Given the description of an element on the screen output the (x, y) to click on. 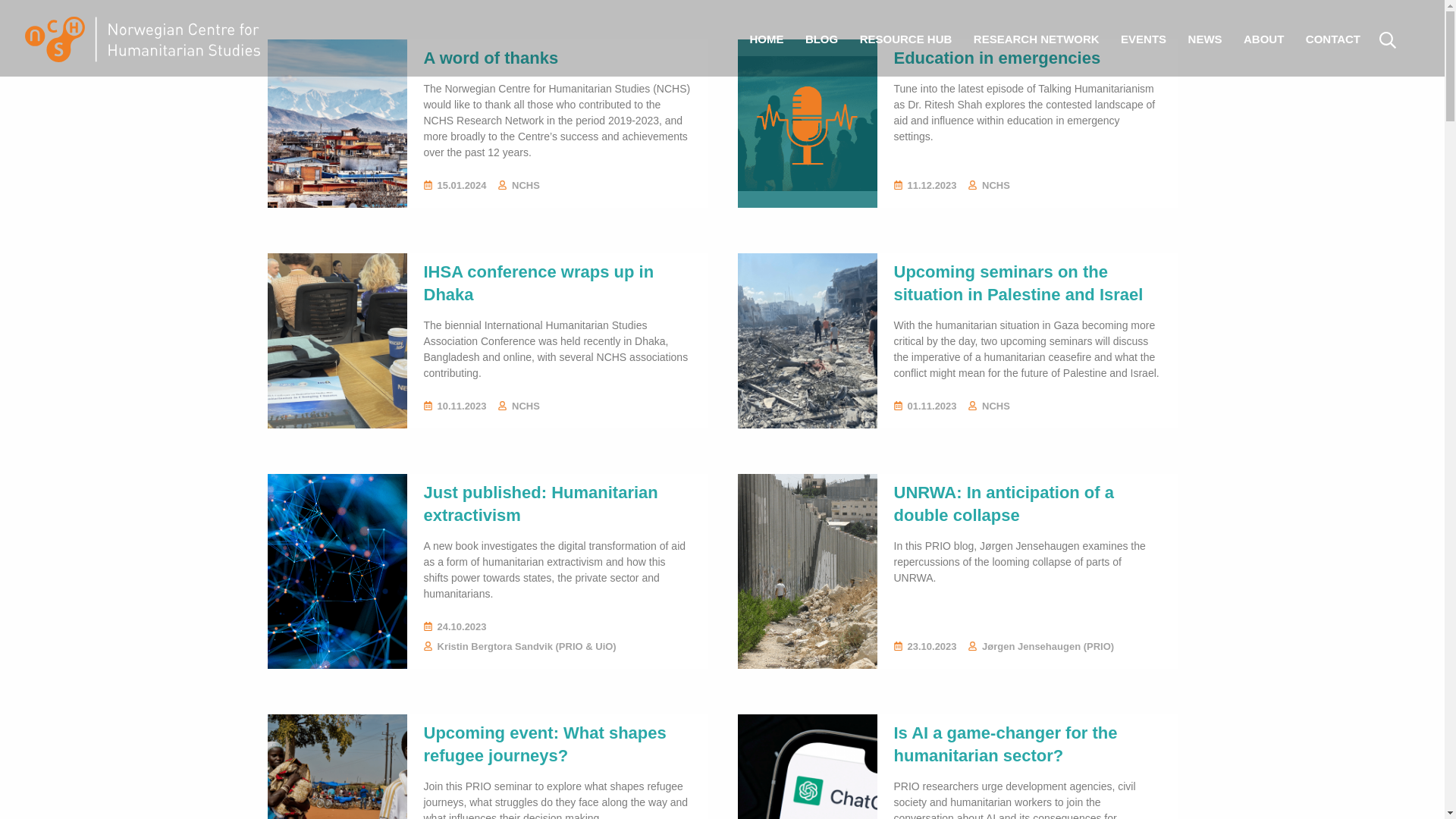
RESEARCH NETWORK (1035, 39)
RESOURCE HUB (905, 39)
EVENTS (1143, 39)
CONTACT (1333, 39)
HOME (765, 39)
BLOG (821, 39)
ABOUT (1263, 39)
NEWS (1205, 39)
